Given the description of an element on the screen output the (x, y) to click on. 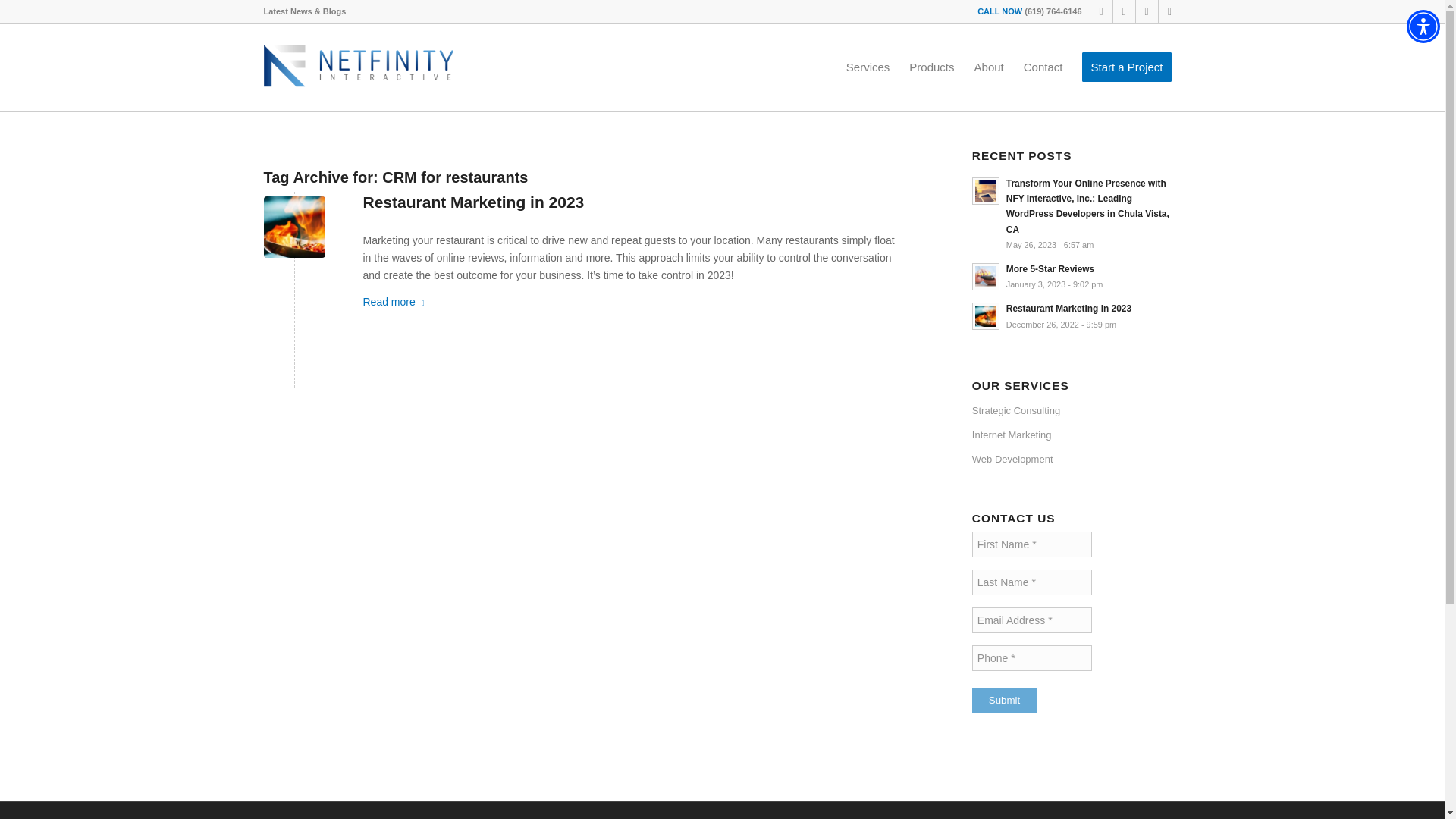
Read more (395, 302)
Instagram (1124, 11)
Internet Marketing (1076, 435)
Accessibility Menu (1422, 26)
Services (867, 67)
Submit (1004, 699)
Restaurant marketing in 2023 (293, 226)
Start a Project (1125, 67)
Twitter (1169, 11)
Contact (1043, 67)
More 5-Star Reviews (1076, 275)
Facebook (1101, 11)
Submit (1004, 699)
